Given the description of an element on the screen output the (x, y) to click on. 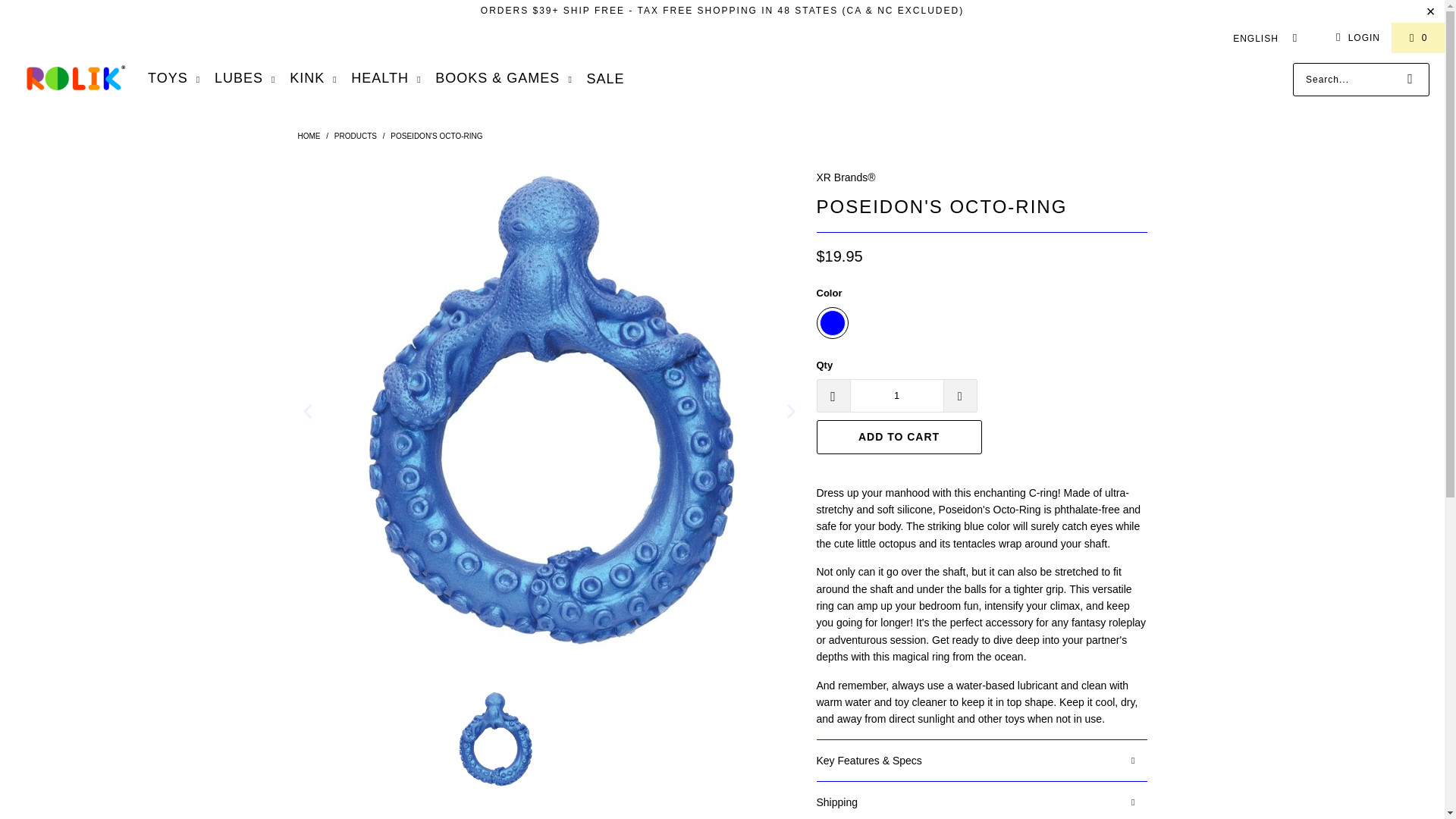
Products (356, 135)
1 (895, 395)
My Account  (1355, 37)
